Given the description of an element on the screen output the (x, y) to click on. 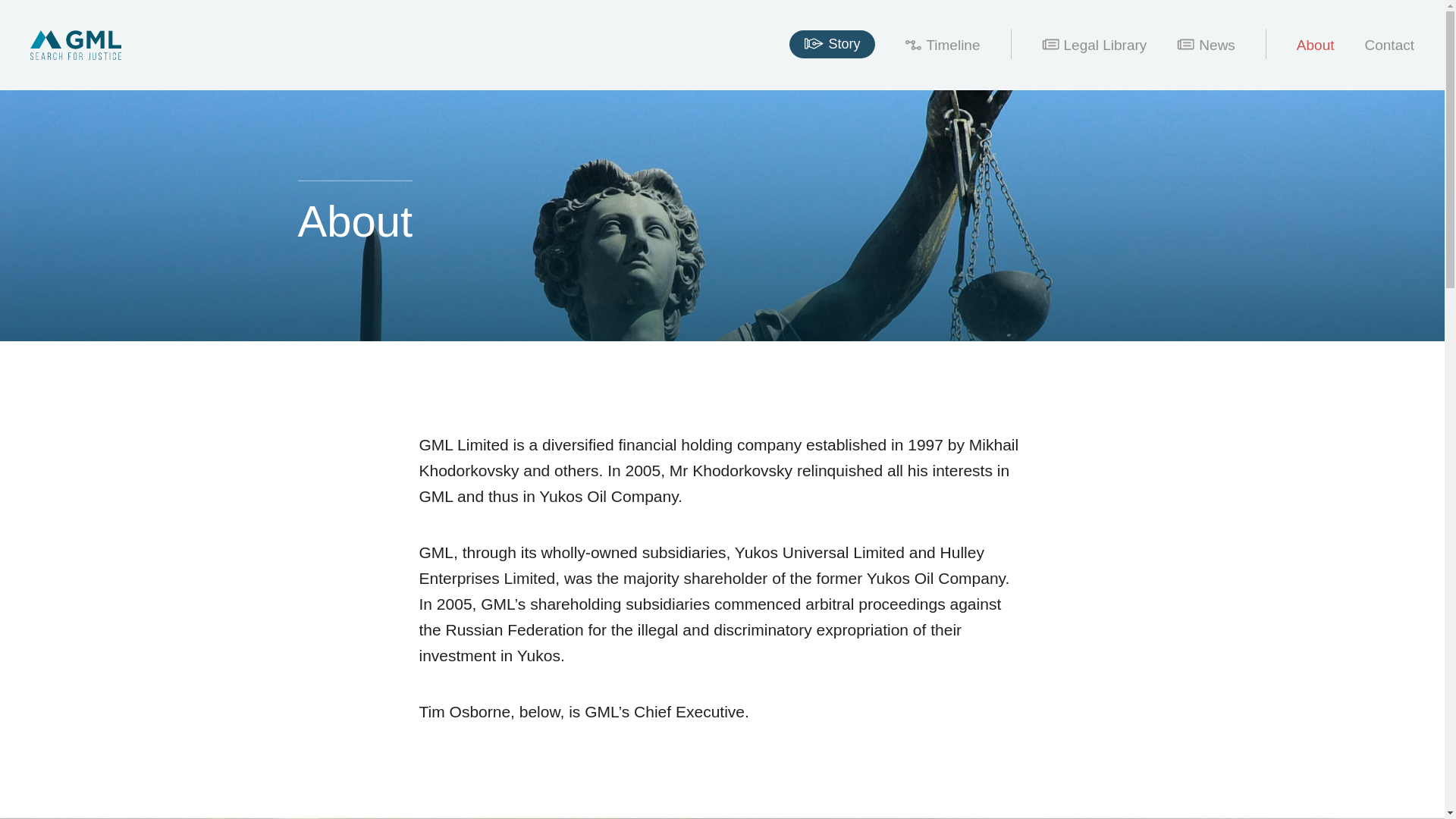
Story (832, 44)
Contact (1389, 44)
News (1205, 44)
Legal Library (1094, 44)
Timeline (942, 44)
About (1316, 44)
